Given the description of an element on the screen output the (x, y) to click on. 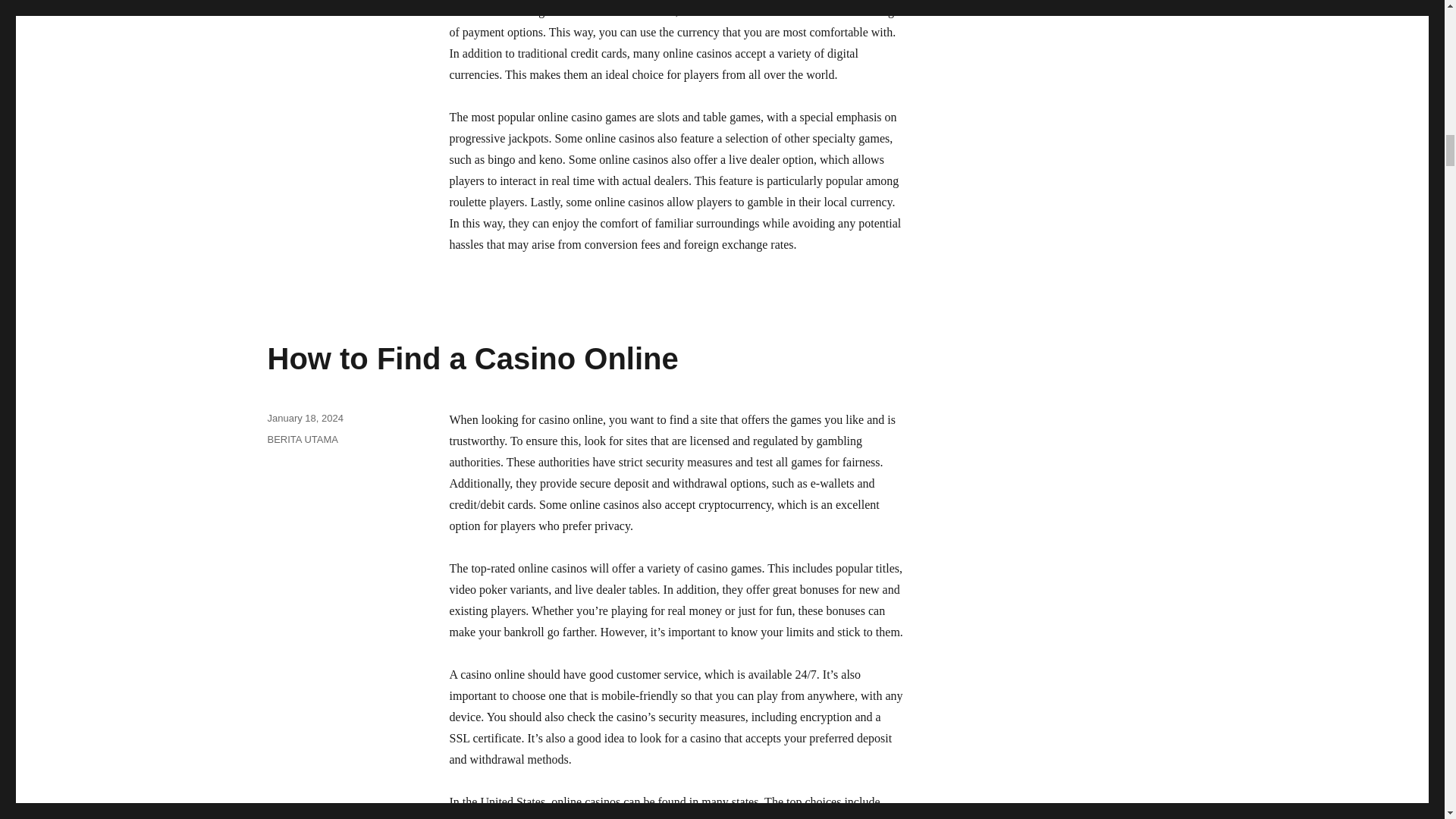
How to Find a Casino Online (472, 358)
BERITA UTAMA (301, 439)
January 18, 2024 (304, 418)
